Given the description of an element on the screen output the (x, y) to click on. 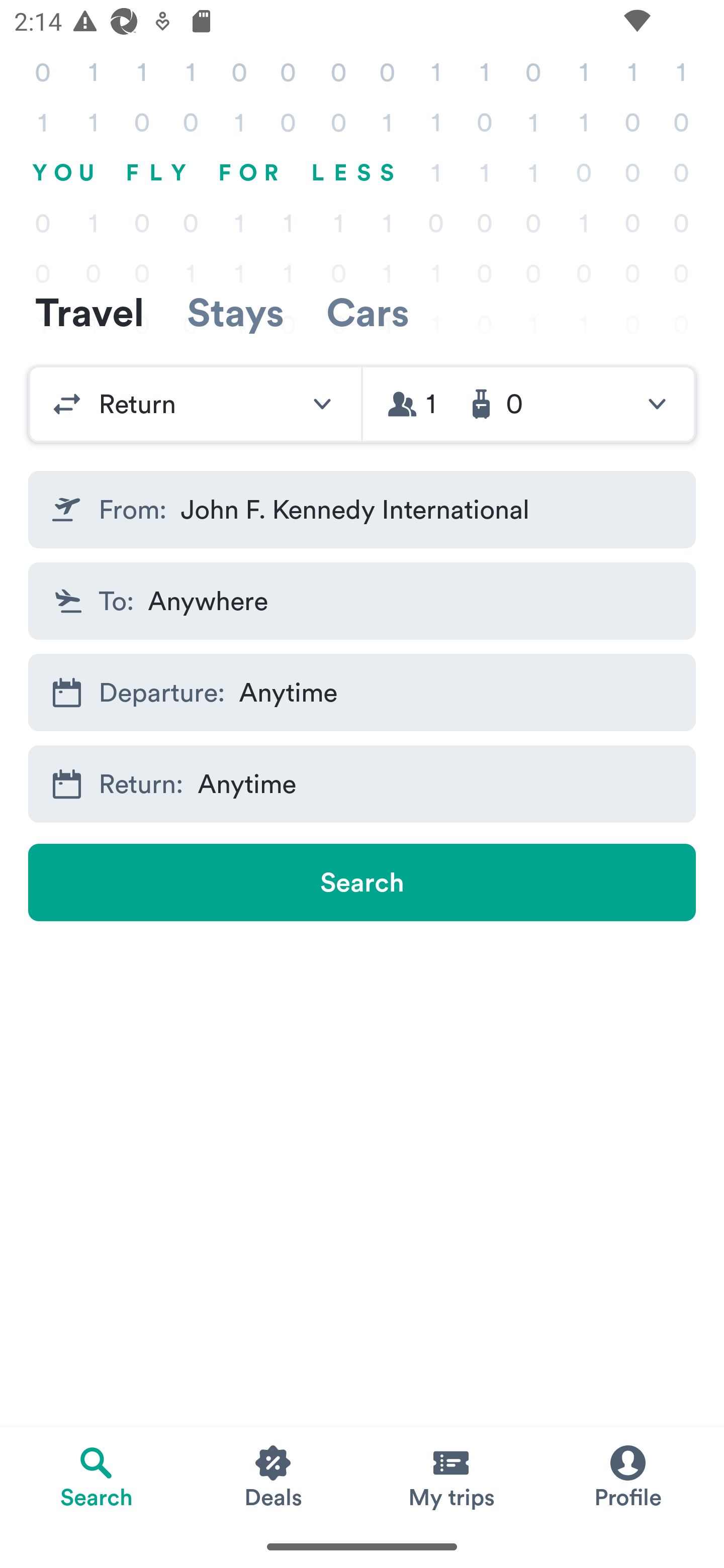
Travel (89, 311)
Stays (235, 311)
Cars (367, 311)
Return (194, 404)
Passengers 1 Bags 0 (528, 404)
From: John F. Kennedy International (361, 509)
To: Anywhere (361, 600)
Departure: Anytime (361, 692)
Return: Anytime (361, 783)
Search (361, 882)
Deals (273, 1475)
My trips (450, 1475)
Profile (627, 1475)
